Given the description of an element on the screen output the (x, y) to click on. 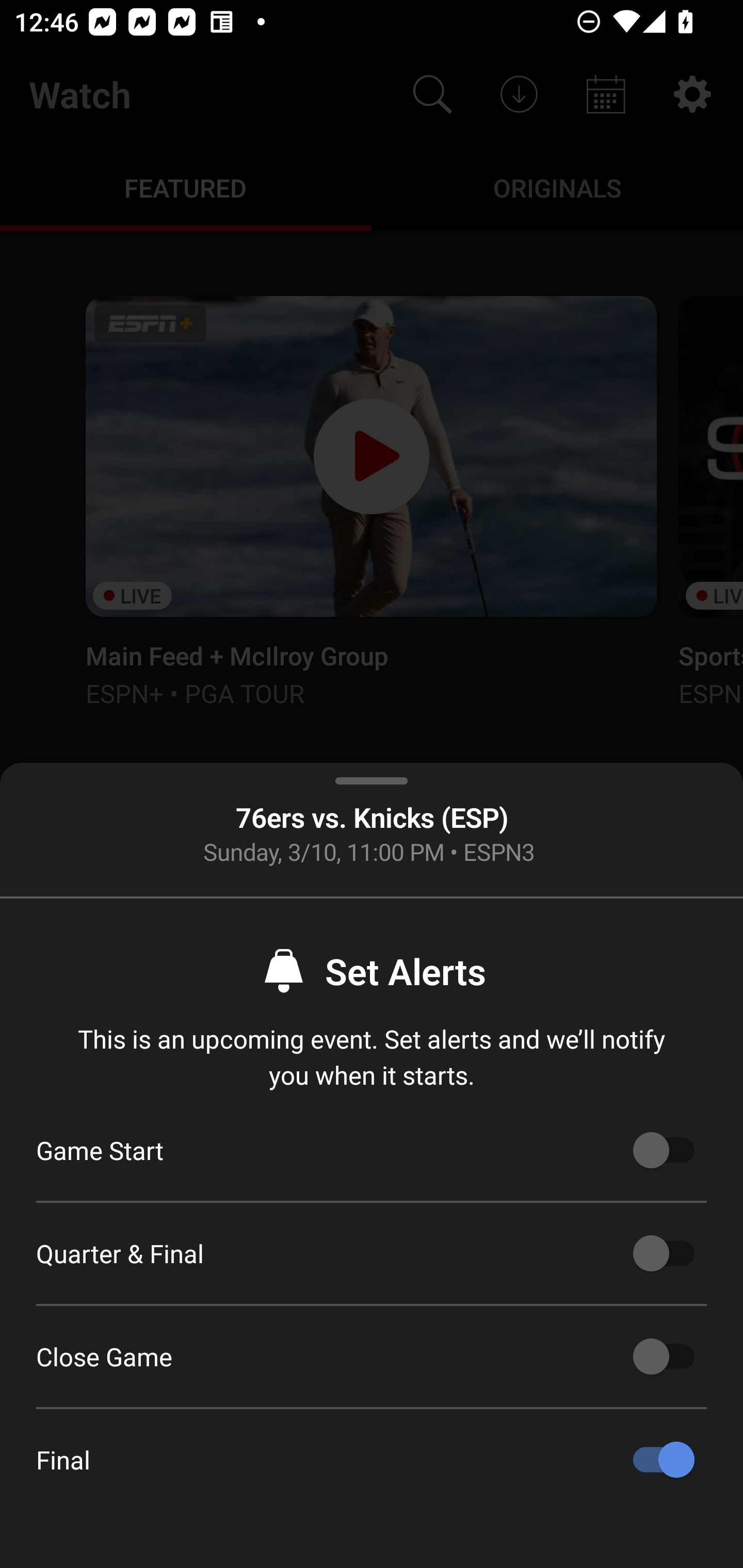
Game Start (663, 1150)
Quarter & Final (663, 1253)
Close Game (663, 1356)
